Given the description of an element on the screen output the (x, y) to click on. 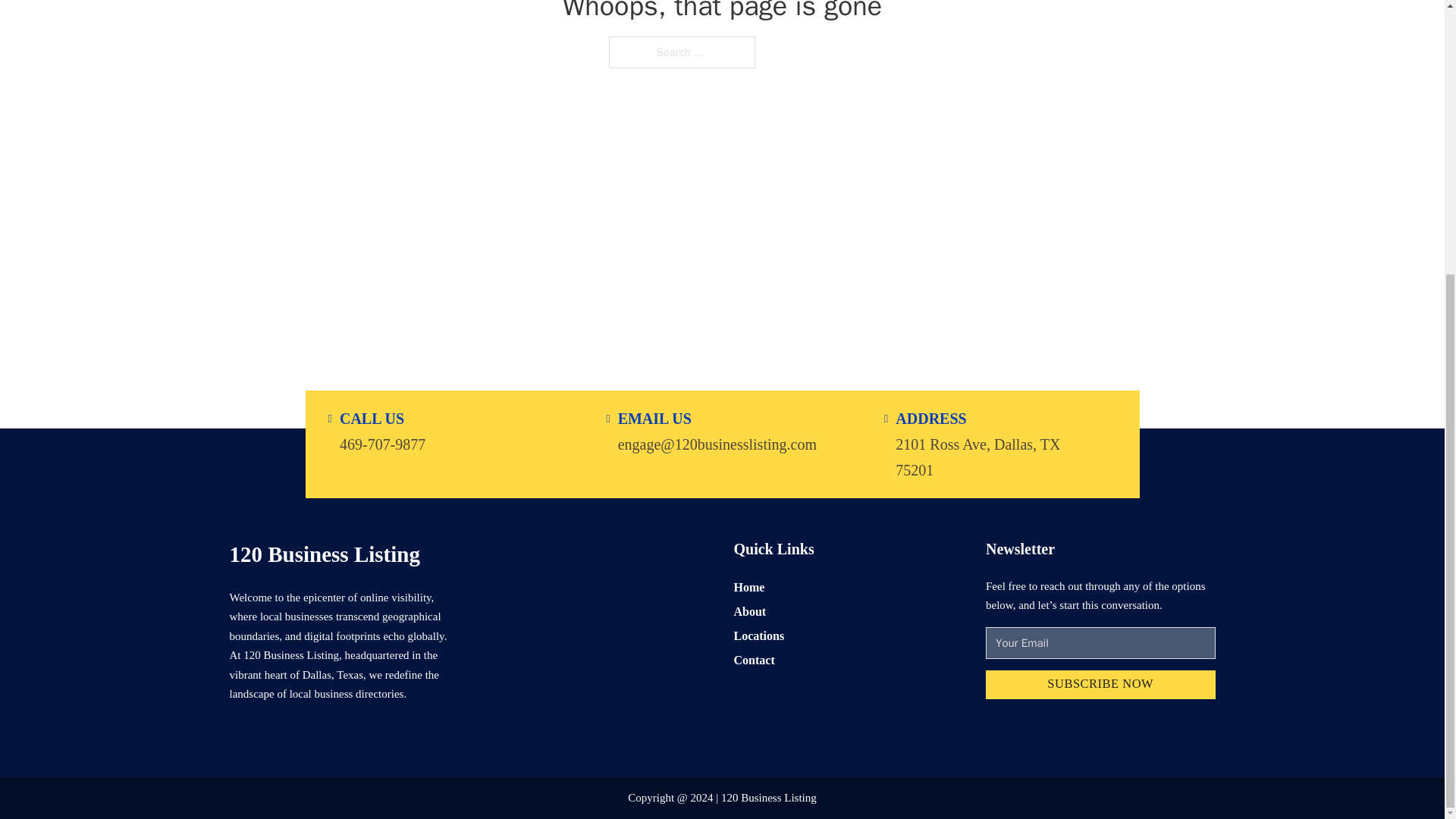
469-707-9877 (382, 443)
About (750, 611)
Home (749, 586)
120 Business Listing (323, 553)
Locations (758, 635)
SUBSCRIBE NOW (1100, 685)
Contact (753, 660)
